Given the description of an element on the screen output the (x, y) to click on. 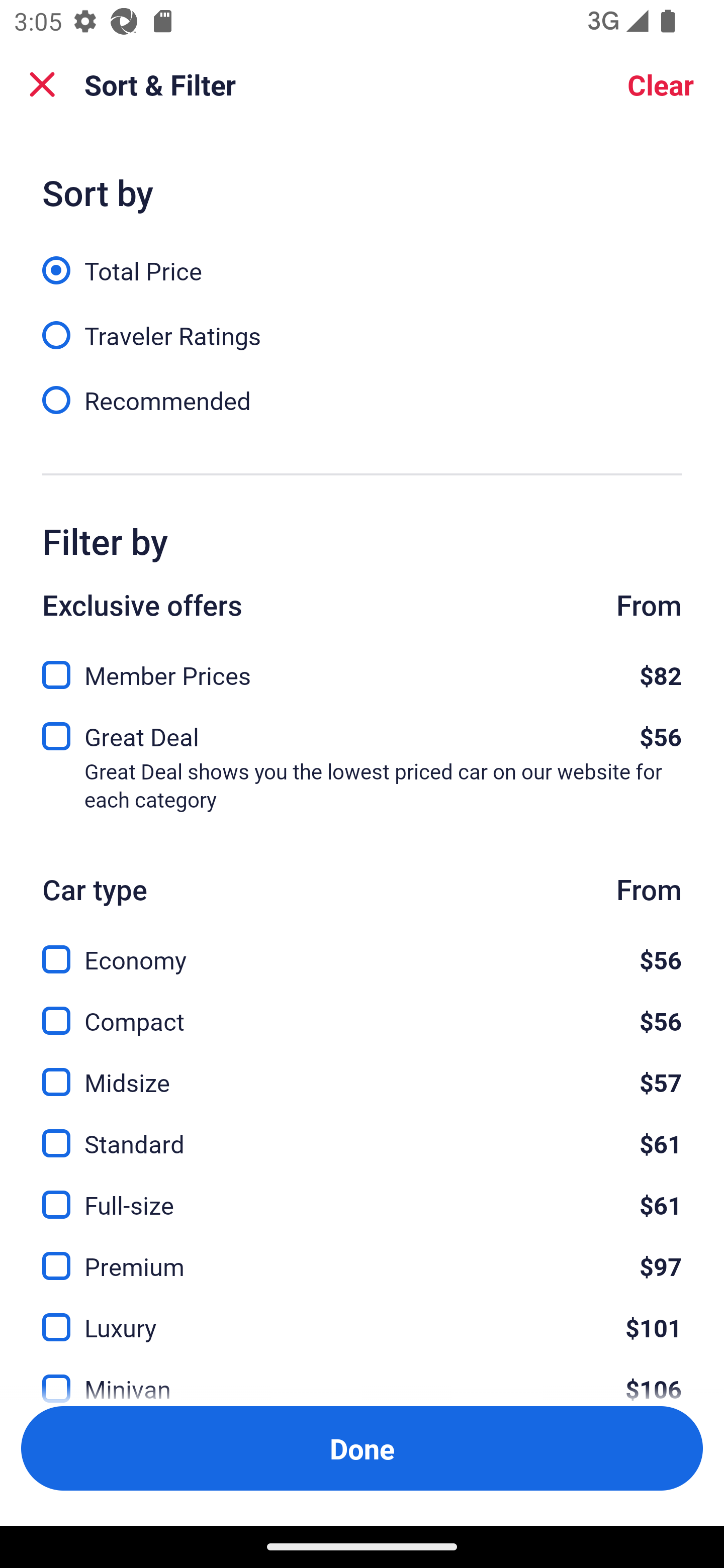
Close Sort and Filter (42, 84)
Clear (660, 84)
Traveler Ratings (361, 324)
Recommended (361, 398)
Member Prices, $82 Member Prices $82 (361, 669)
Economy, $56 Economy $56 (361, 947)
Compact, $56 Compact $56 (361, 1008)
Midsize, $57 Midsize $57 (361, 1070)
Standard, $61 Standard $61 (361, 1132)
Full-size, $61 Full-size $61 (361, 1193)
Premium, $97 Premium $97 (361, 1254)
Luxury, $101 Luxury $101 (361, 1315)
Minivan, $106 Minivan $106 (361, 1376)
Apply and close Sort and Filter Done (361, 1448)
